Given the description of an element on the screen output the (x, y) to click on. 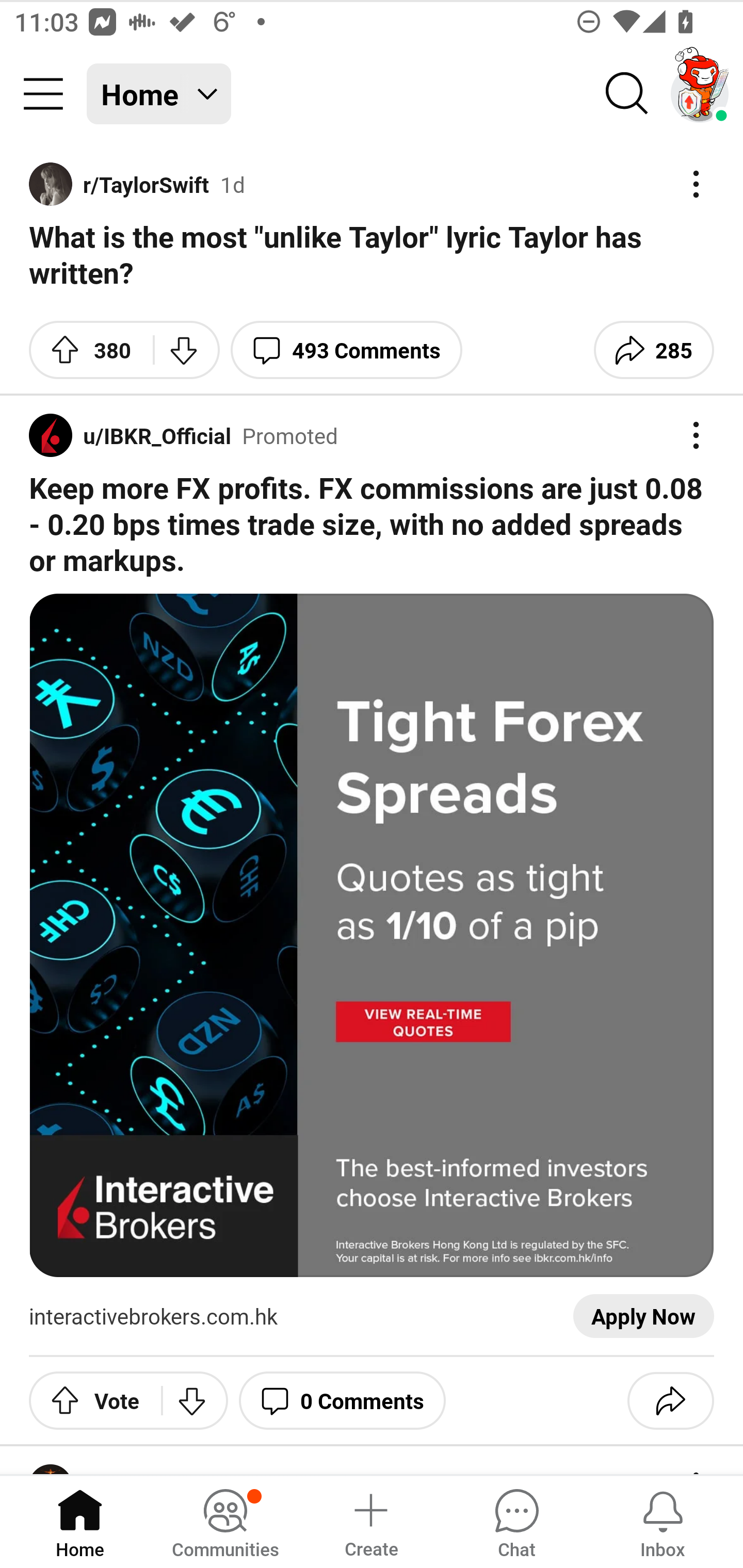
Community menu (43, 93)
Home Home feed (158, 93)
Search (626, 93)
TestAppium002 account (699, 93)
Home (80, 1520)
Communities, has notifications Communities (225, 1520)
Create a post Create (370, 1520)
Chat (516, 1520)
Inbox (662, 1520)
